Given the description of an element on the screen output the (x, y) to click on. 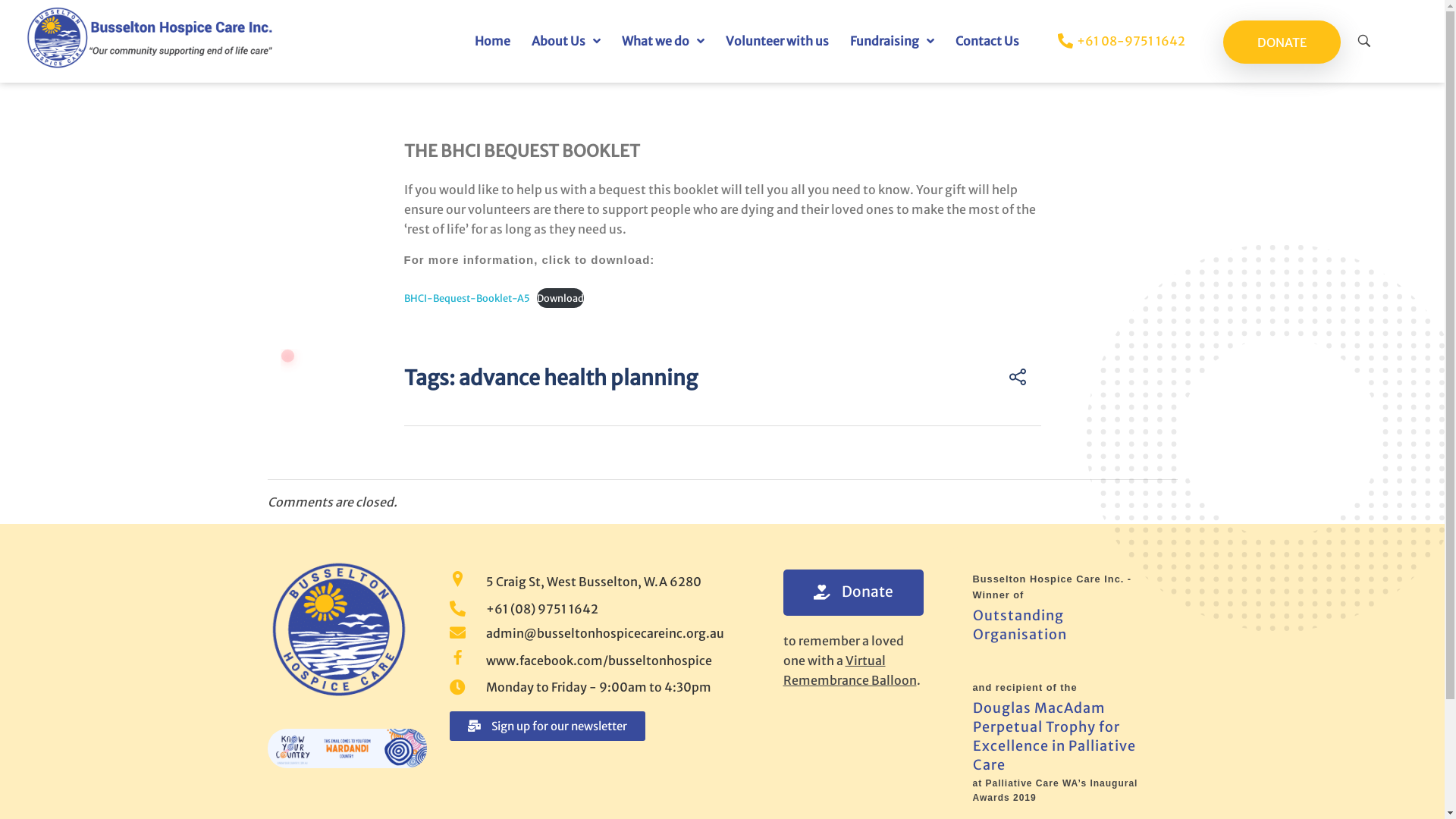
advance health planning Element type: text (577, 377)
What we do Element type: text (663, 40)
Virtual Remembrance Balloon Element type: text (849, 669)
Busselton Hospice Care Inc. Element type: text (392, 716)
Volunteer with us Element type: text (777, 40)
Busselton Hospice Care Inc. Element type: hover (150, 36)
+61 08-9751 1642 Element type: text (1107, 40)
Donate Element type: text (852, 592)
Home Element type: text (492, 40)
Download Element type: text (559, 297)
About Us Element type: text (565, 40)
Busselton Hospice Care Inc. Element type: text (148, 82)
BHCI-Bequest-Booklet-A5 Element type: text (466, 297)
Sign up for our newsletter Element type: text (546, 725)
Contact Us Element type: text (986, 40)
DONATE Element type: text (1281, 41)
Fundraising Element type: text (891, 40)
www.facebook.com/busseltonhospice Element type: text (596, 660)
admin@busseltonhospicecareinc.org.au Element type: text (596, 633)
Busselton Hospice Care Inc. Element type: hover (346, 626)
